Given the description of an element on the screen output the (x, y) to click on. 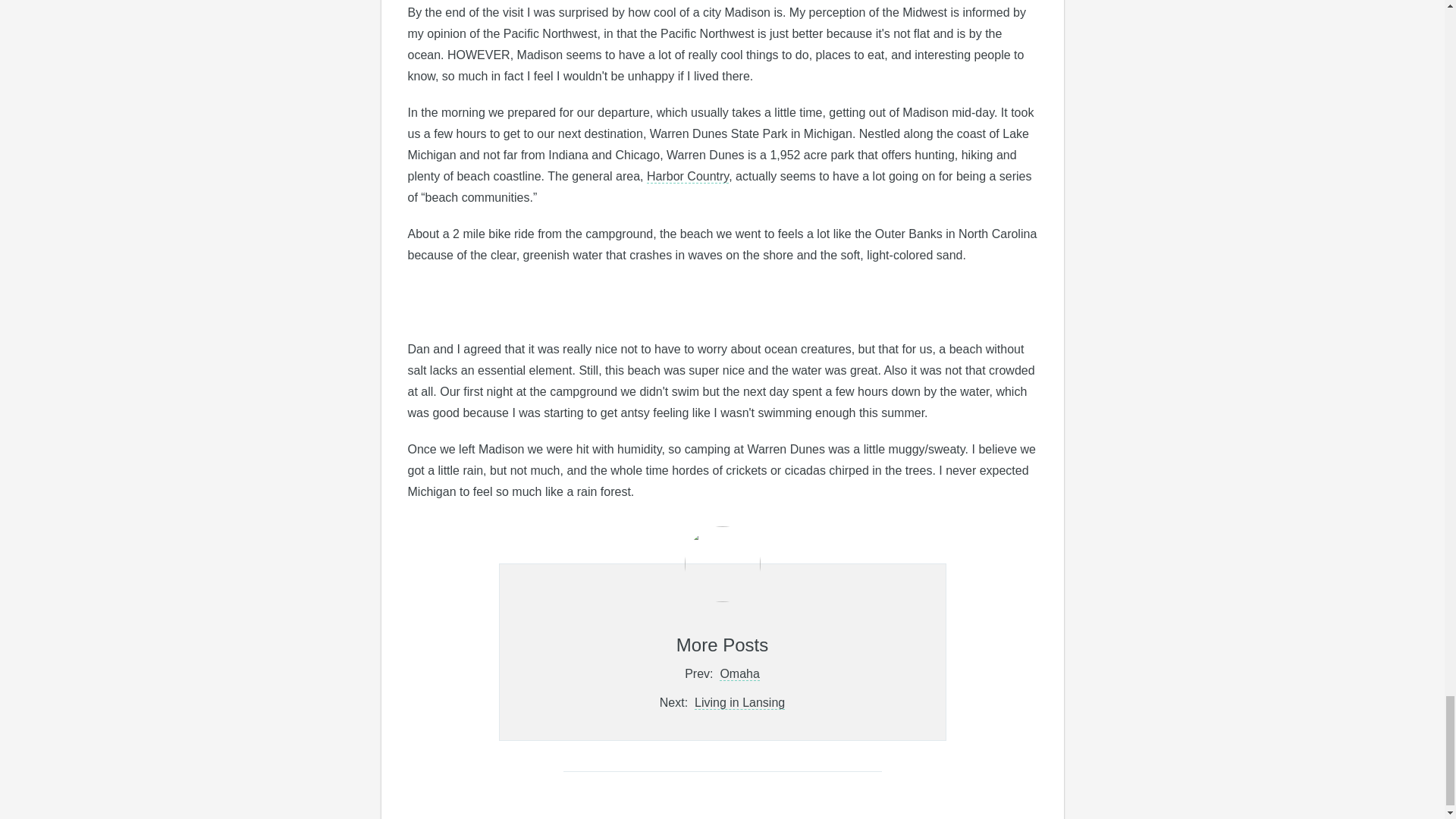
Omaha (738, 673)
Harbor Country (687, 176)
Living in Lansing (739, 703)
